Given the description of an element on the screen output the (x, y) to click on. 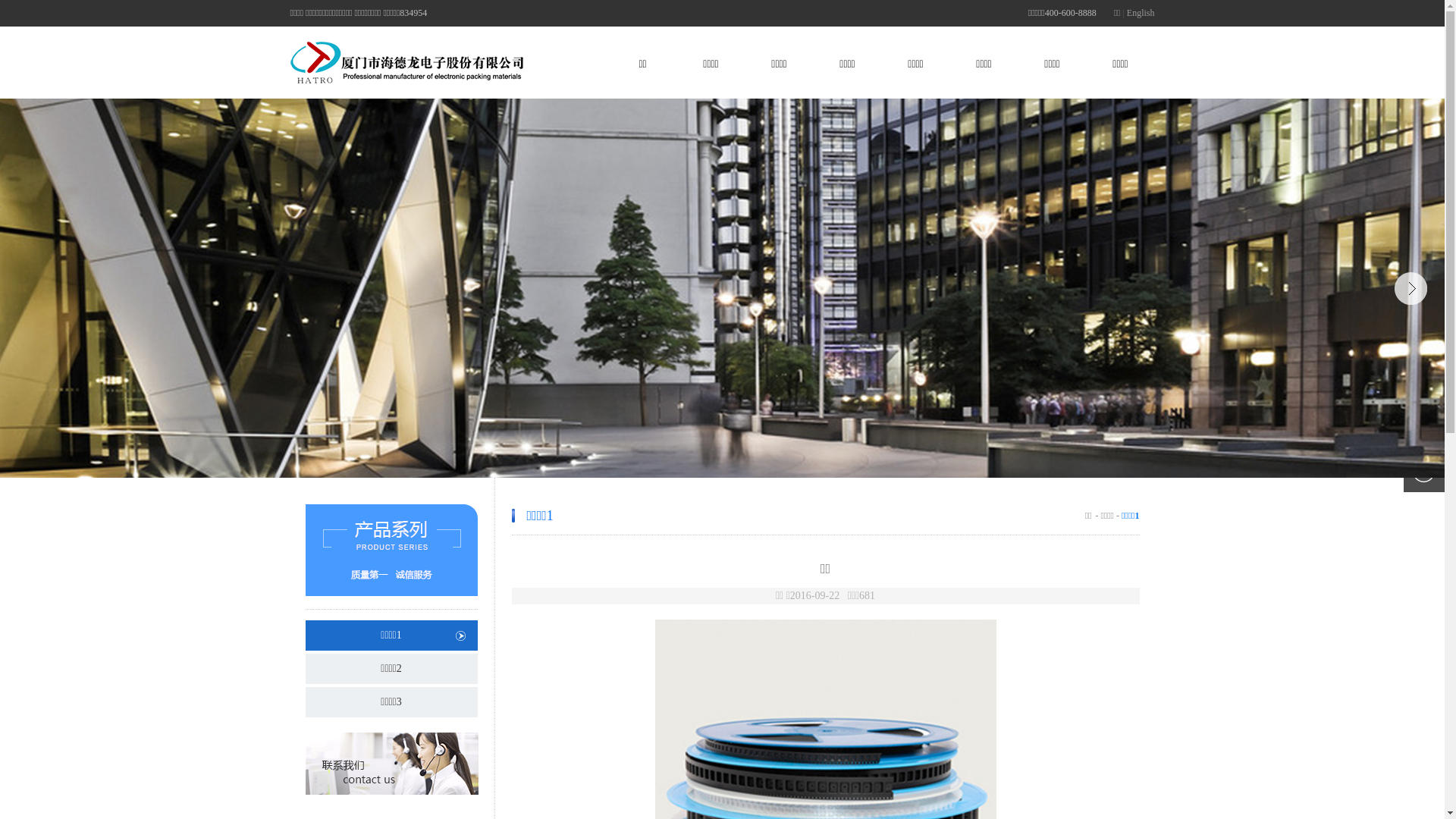
2 Element type: text (733, 453)
1 Element type: text (710, 453)
English Element type: text (1140, 12)
0 Element type: text (722, 287)
